Given the description of an element on the screen output the (x, y) to click on. 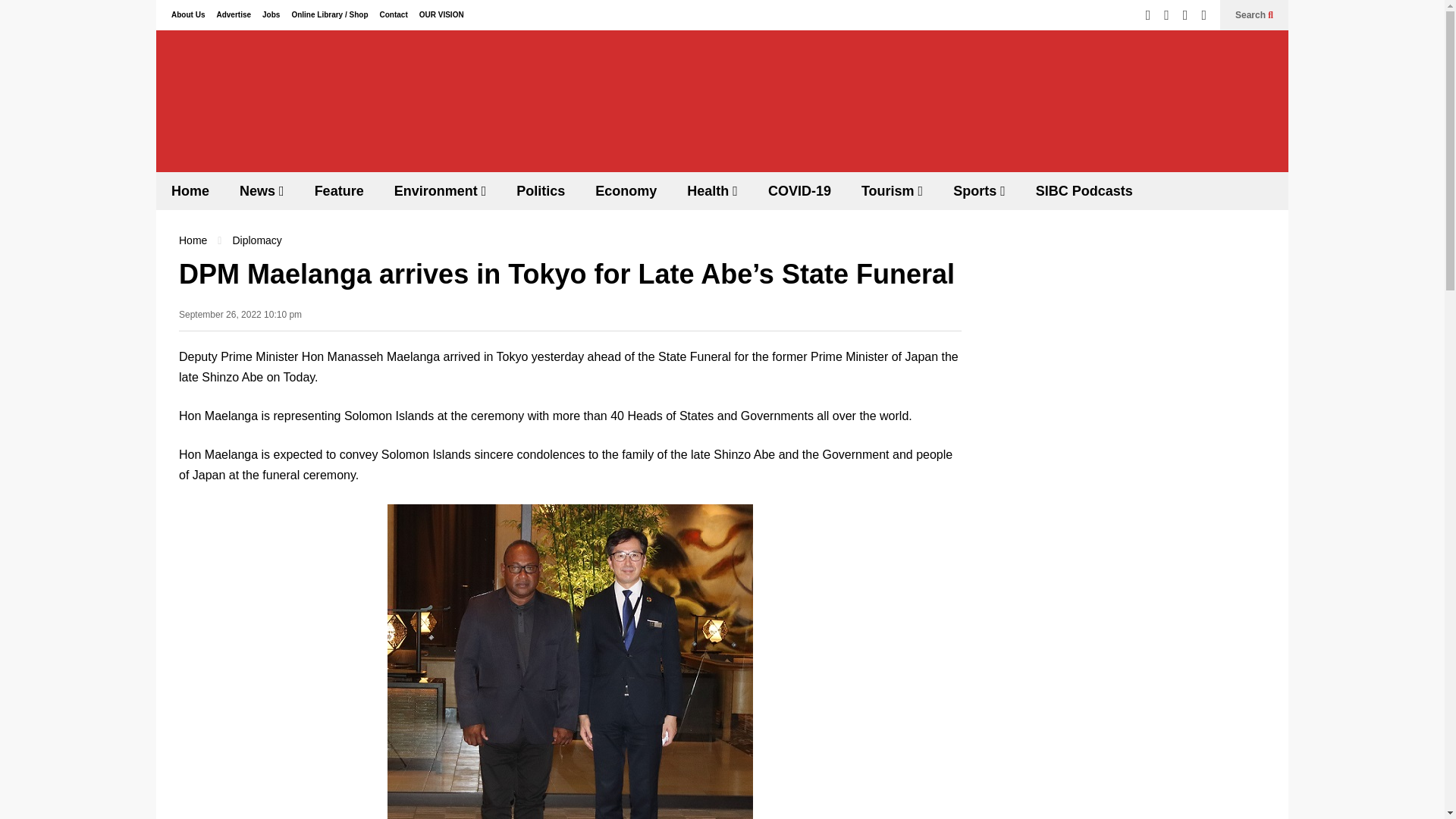
Economy (625, 190)
Politics (539, 190)
SIBC Podcasts (1084, 190)
Contact (392, 14)
OUR VISION (441, 14)
Home (189, 190)
Health (711, 190)
Jobs (270, 14)
Environment (440, 190)
Advertise (232, 14)
